Given the description of an element on the screen output the (x, y) to click on. 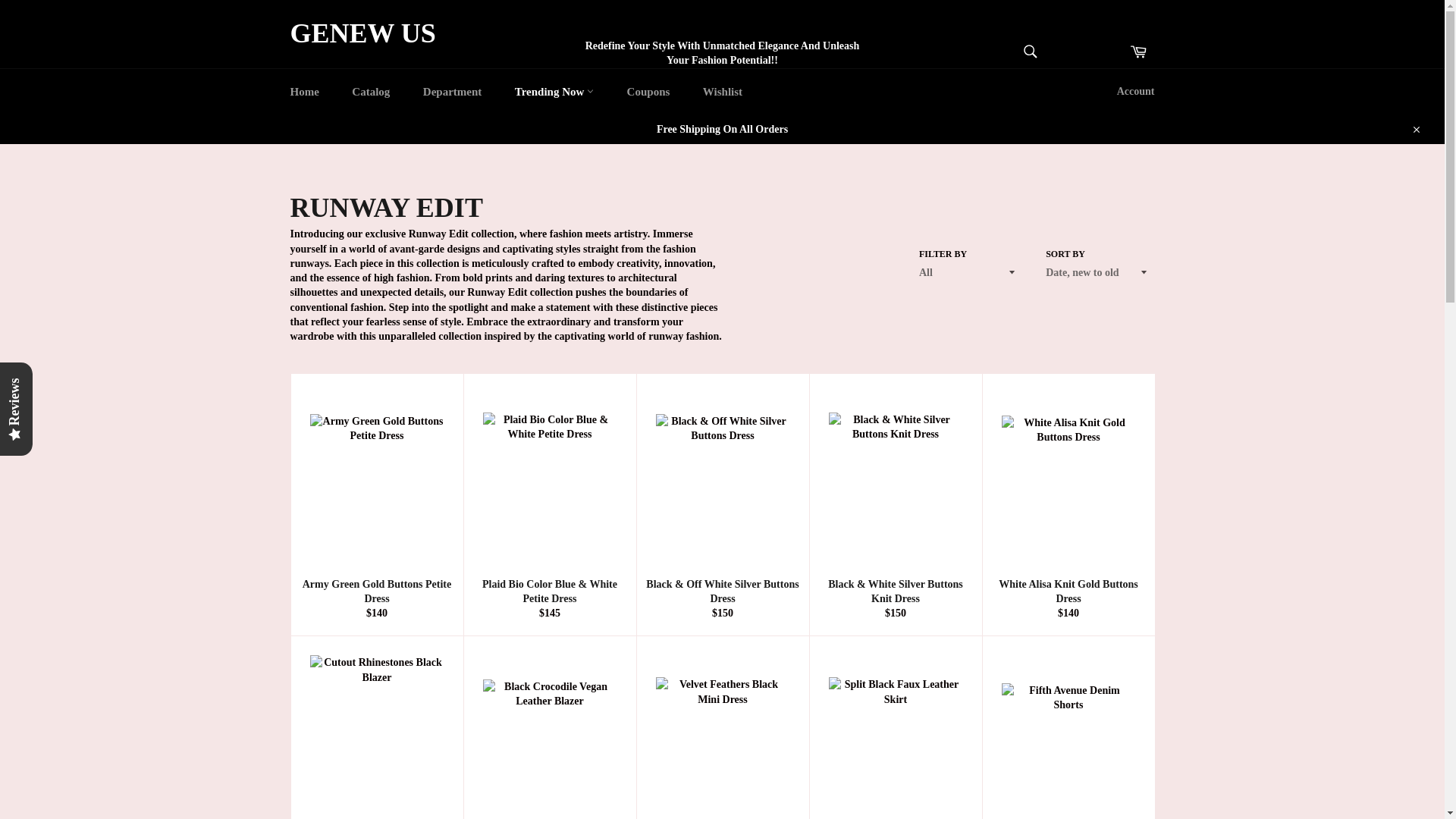
Search (1028, 51)
Coupons (648, 90)
Department (451, 90)
Account (1135, 90)
Wishlist (722, 90)
Trending Now (553, 90)
Close (1414, 128)
Catalog (370, 90)
Cart (1138, 52)
GENEW US (362, 34)
Home (304, 90)
